Given the description of an element on the screen output the (x, y) to click on. 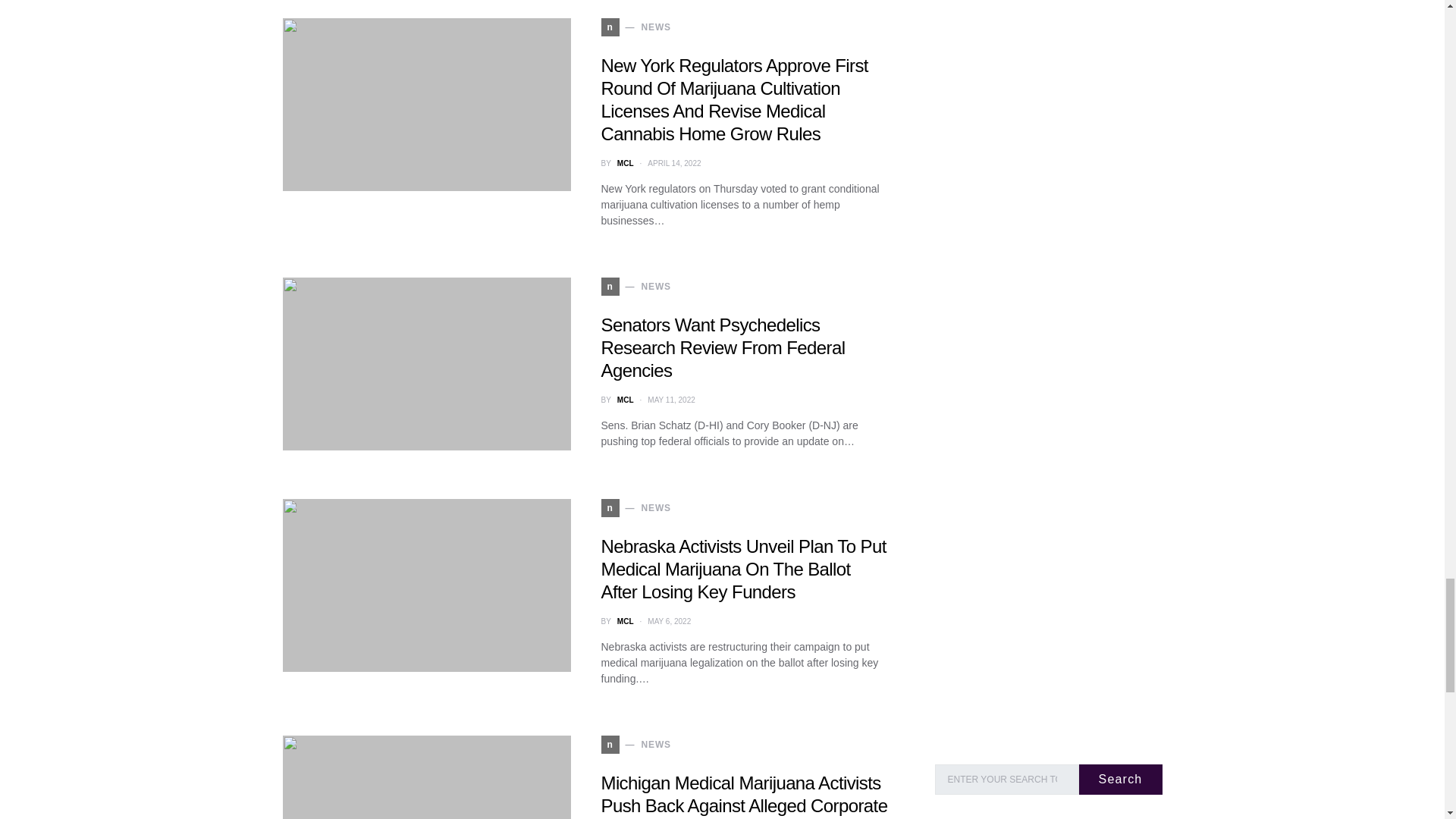
View all posts by MCL (625, 621)
View all posts by MCL (625, 399)
View all posts by MCL (625, 163)
